Given the description of an element on the screen output the (x, y) to click on. 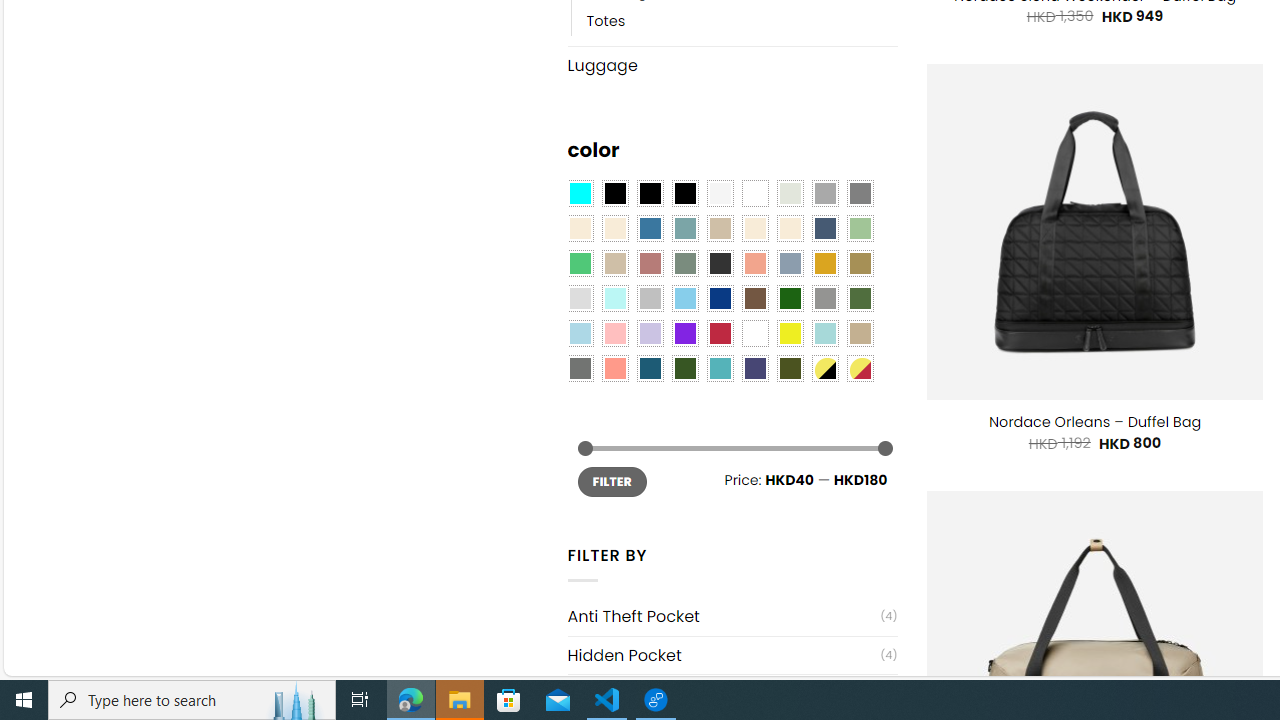
Black-Brown (684, 193)
Mint (614, 298)
Red (719, 334)
Purple Navy (755, 368)
Khaki (859, 334)
Hale Navy (824, 228)
Black (650, 193)
